Given the description of an element on the screen output the (x, y) to click on. 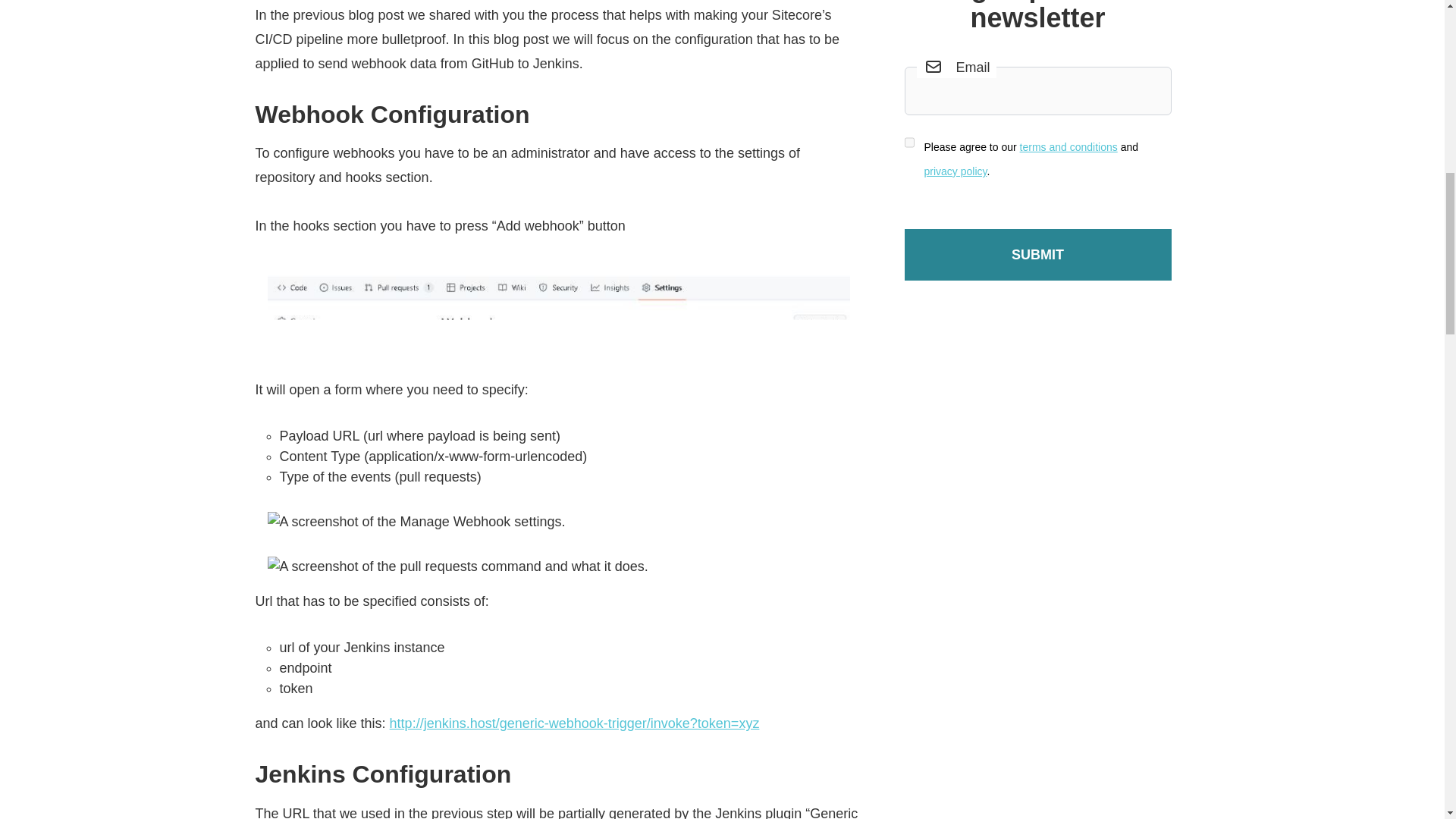
SUBMIT (1037, 254)
terms and conditions (1069, 146)
privacy policy (955, 171)
